Given the description of an element on the screen output the (x, y) to click on. 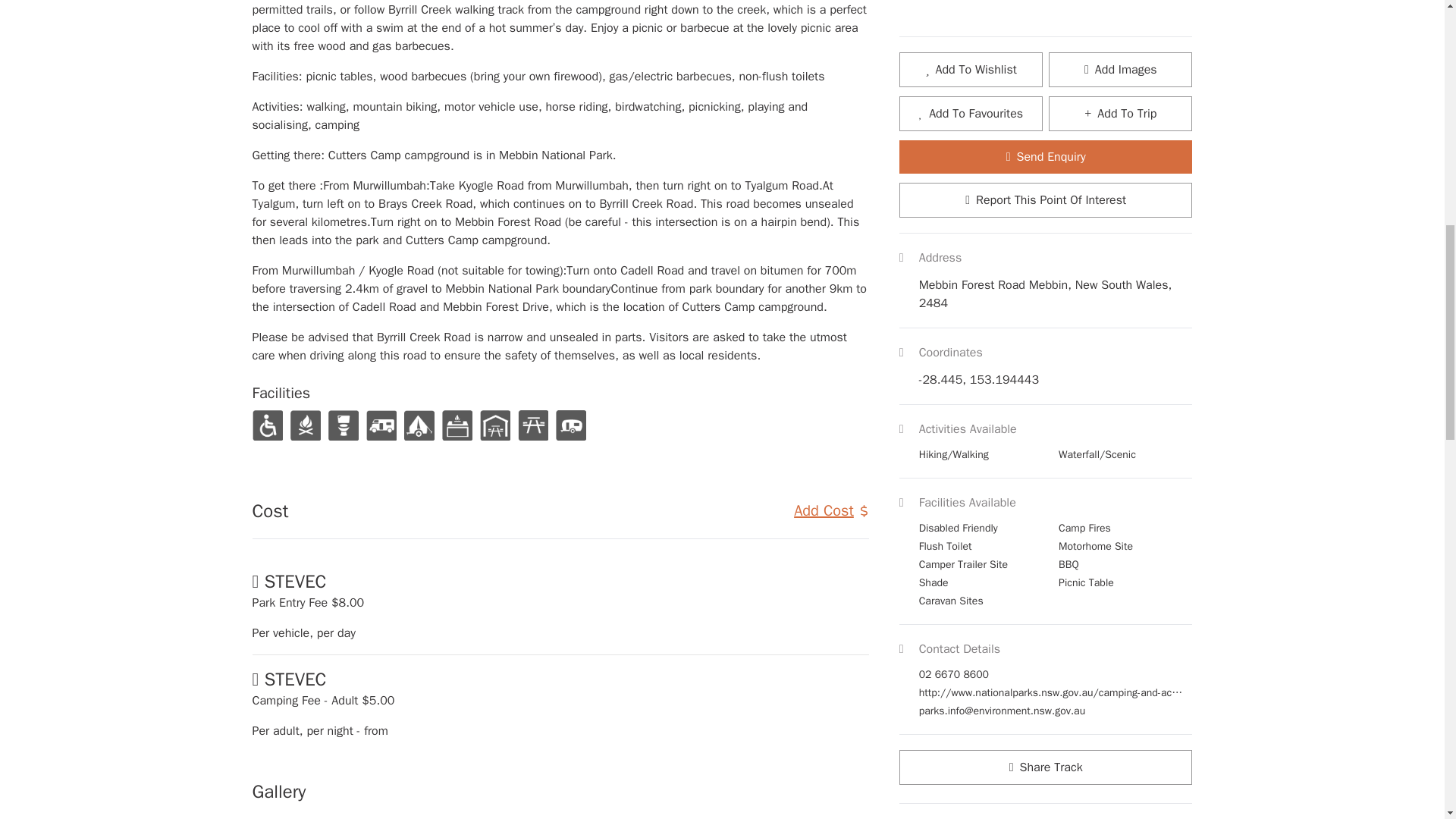
Disabled Friendly (266, 425)
BBQ (456, 425)
Shade (494, 425)
Caravan Sites (569, 425)
Camper Trailer Sites (418, 425)
Camp Fires (304, 425)
Motorhome Sites (380, 425)
Flushing Toilets (342, 425)
Picnic Tables (531, 425)
